Given the description of an element on the screen output the (x, y) to click on. 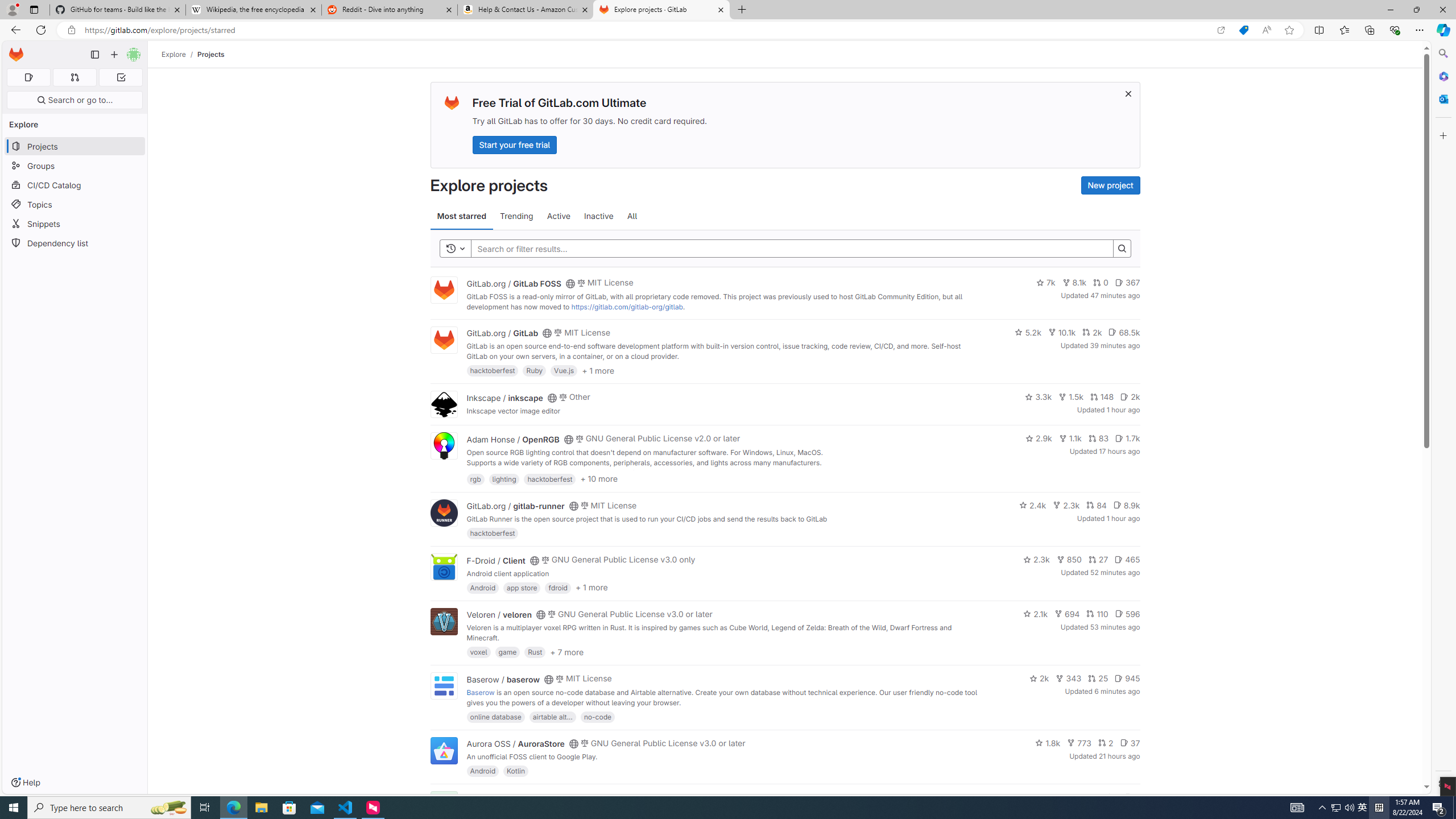
Projects (211, 53)
Skip to main content (13, 49)
Baserow / baserow (502, 678)
8.9k (1126, 504)
Start your free trial (514, 144)
Class: s14 gl-mr-2 (1128, 796)
Topics (74, 203)
Dependency list (74, 242)
To-Do list 0 (120, 76)
Toggle history (455, 248)
Help & Contact Us - Amazon Customer Service (525, 9)
